Given the description of an element on the screen output the (x, y) to click on. 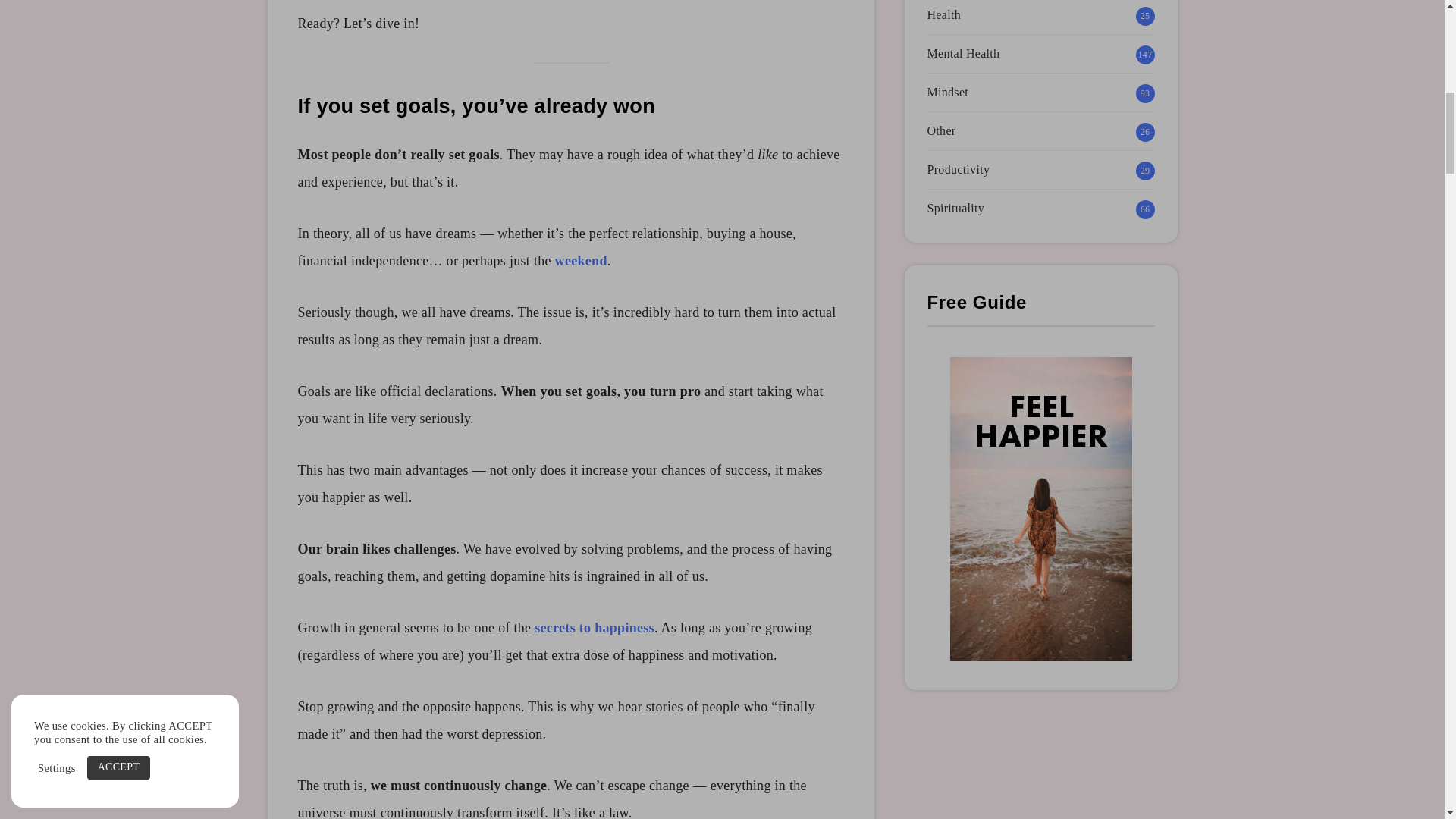
weekend (580, 260)
secrets to happiness (593, 627)
